Given the description of an element on the screen output the (x, y) to click on. 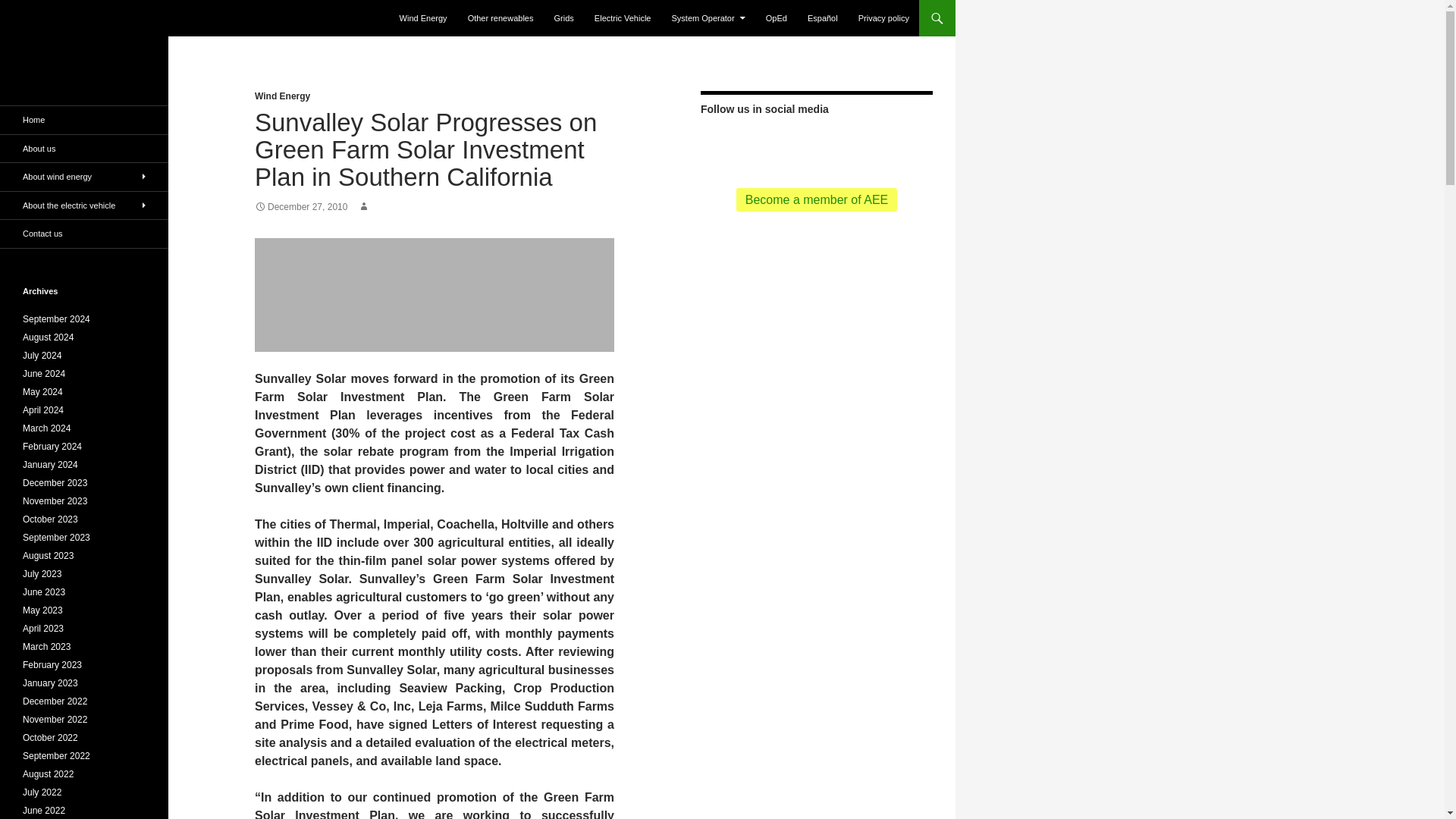
December 27, 2010 (300, 206)
youtube (792, 143)
Tiktok (840, 143)
twitter (743, 143)
LinkedIn (865, 143)
RSS (719, 143)
flickr (816, 143)
OpEd (776, 18)
Instagram (889, 143)
Privacy policy (883, 18)
